Given the description of an element on the screen output the (x, y) to click on. 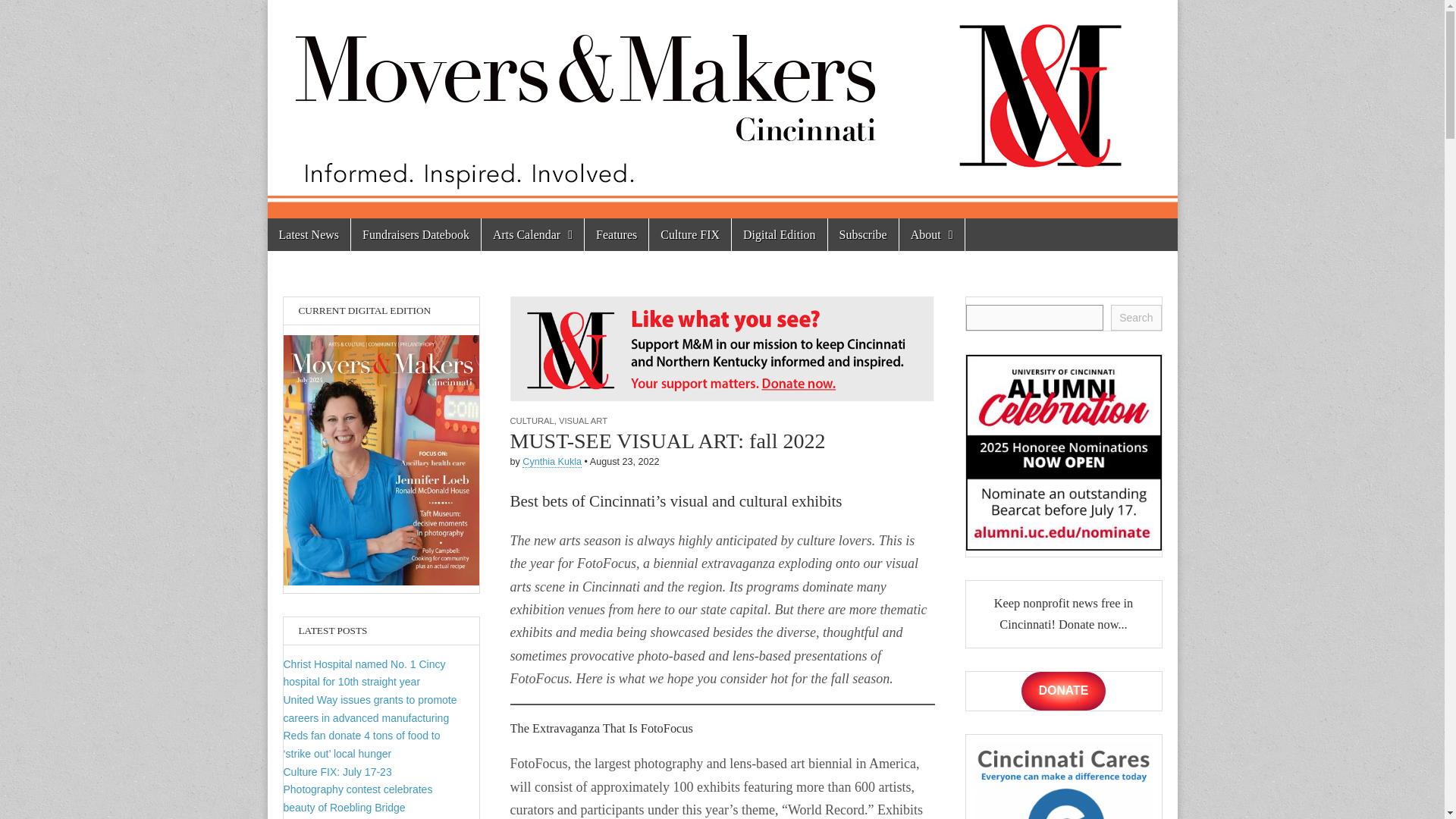
Subscribe (863, 234)
Features (616, 234)
Latest News (308, 234)
Culture FIX (689, 234)
Arts Calendar (532, 234)
About (931, 234)
Fundraisers Datebook (415, 234)
Cynthia Kukla (551, 461)
Posts by Cynthia Kukla (551, 461)
VISUAL ART (583, 420)
CULTURAL (531, 420)
Digital Edition (779, 234)
